Given the description of an element on the screen output the (x, y) to click on. 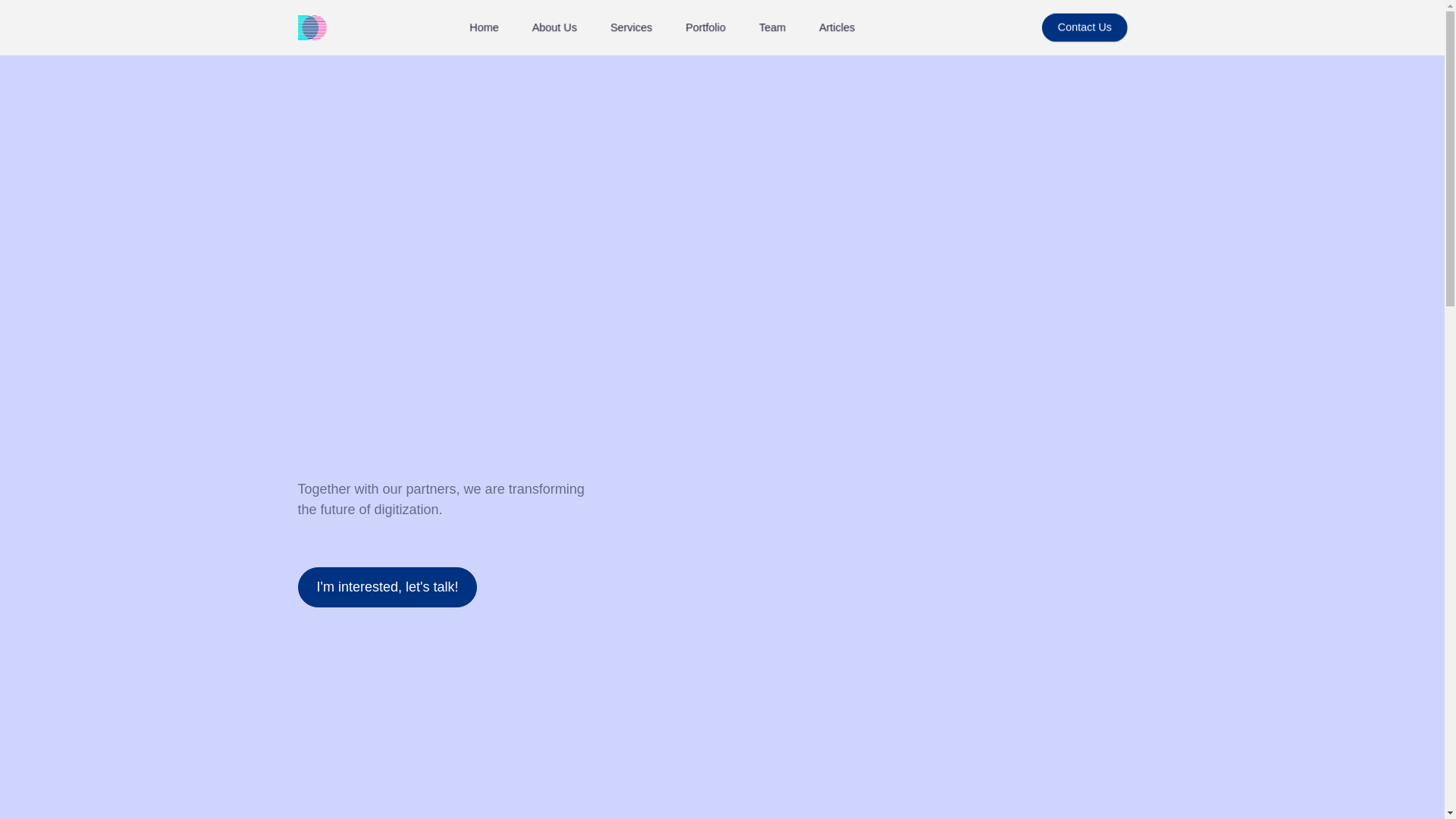
About Us (563, 31)
Articles (844, 31)
Services (639, 31)
Portfolio (713, 31)
I'm interested, let's talk! (387, 587)
Contact Us (1095, 31)
Team (778, 31)
Home (490, 31)
